Given the description of an element on the screen output the (x, y) to click on. 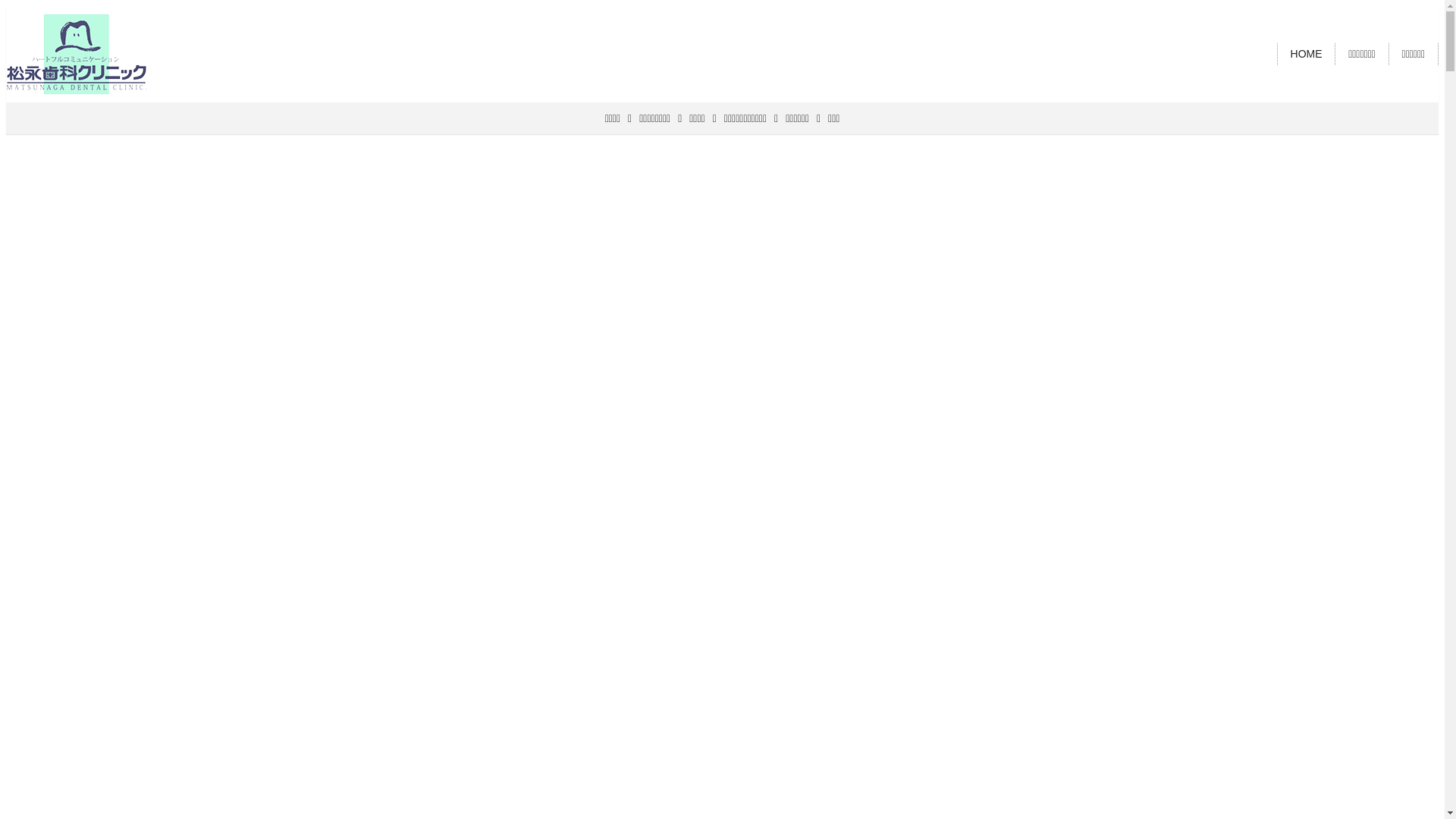
SCROLL Element type: text (721, 759)
HOME Element type: text (1306, 53)
